Given the description of an element on the screen output the (x, y) to click on. 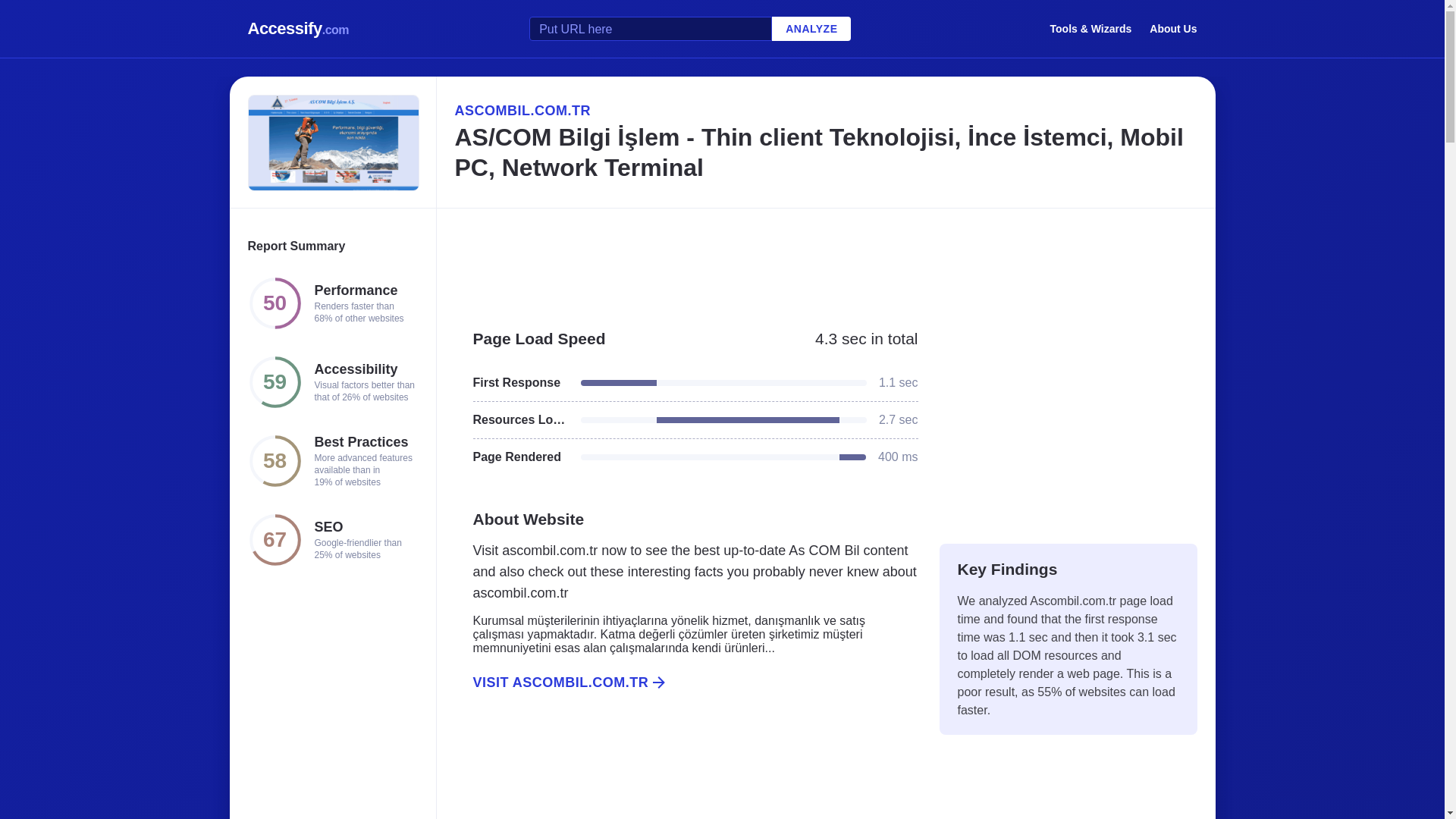
ASCOMBIL.COM.TR (825, 110)
About Us (1173, 28)
Accessify.com (298, 28)
Advertisement (1067, 418)
Advertisement (686, 771)
ANALYZE (810, 28)
Advertisement (825, 260)
VISIT ASCOMBIL.COM.TR (686, 682)
